Given the description of an element on the screen output the (x, y) to click on. 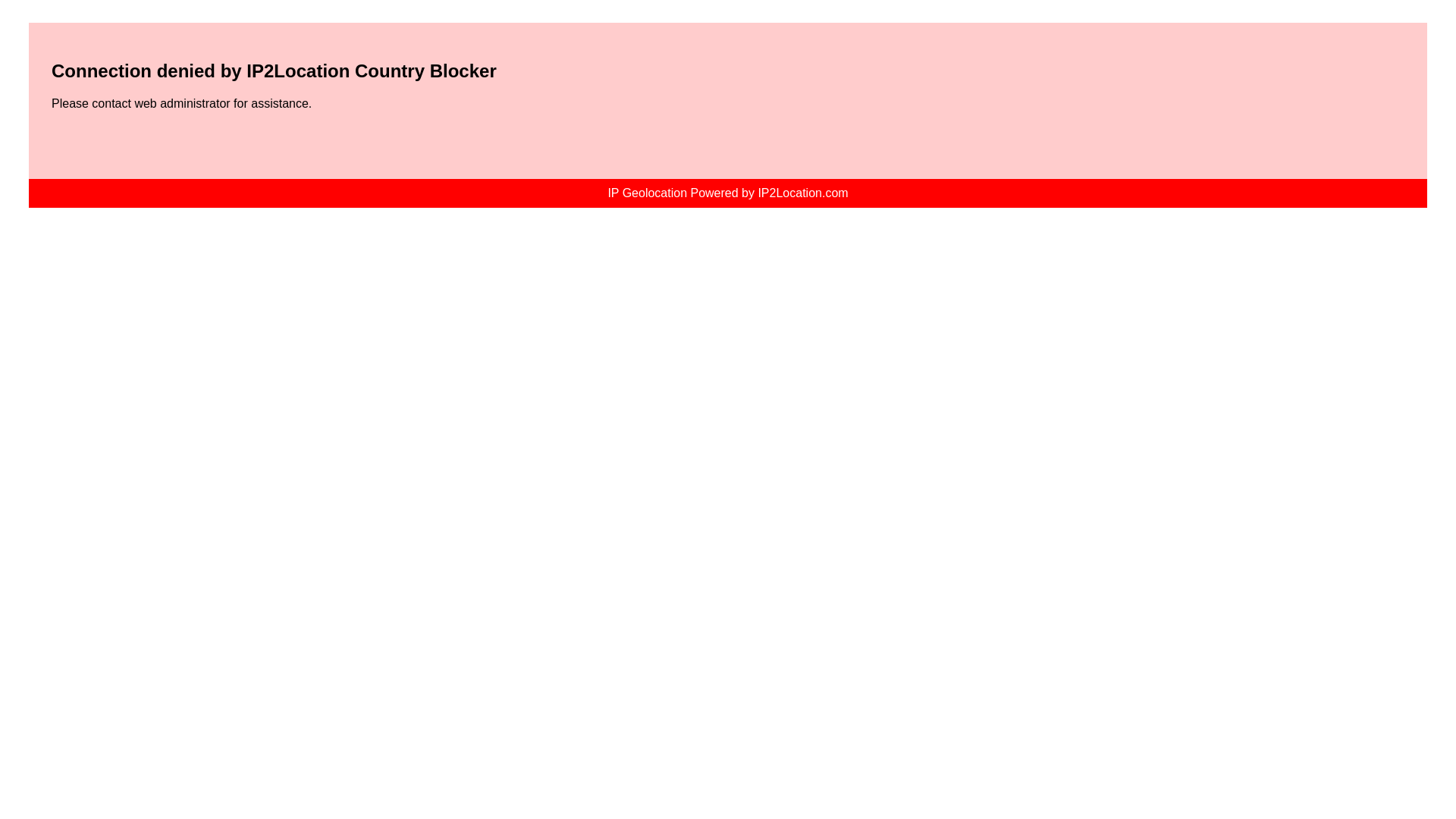
IP Geolocation Powered by IP2Location.com (727, 192)
